Given the description of an element on the screen output the (x, y) to click on. 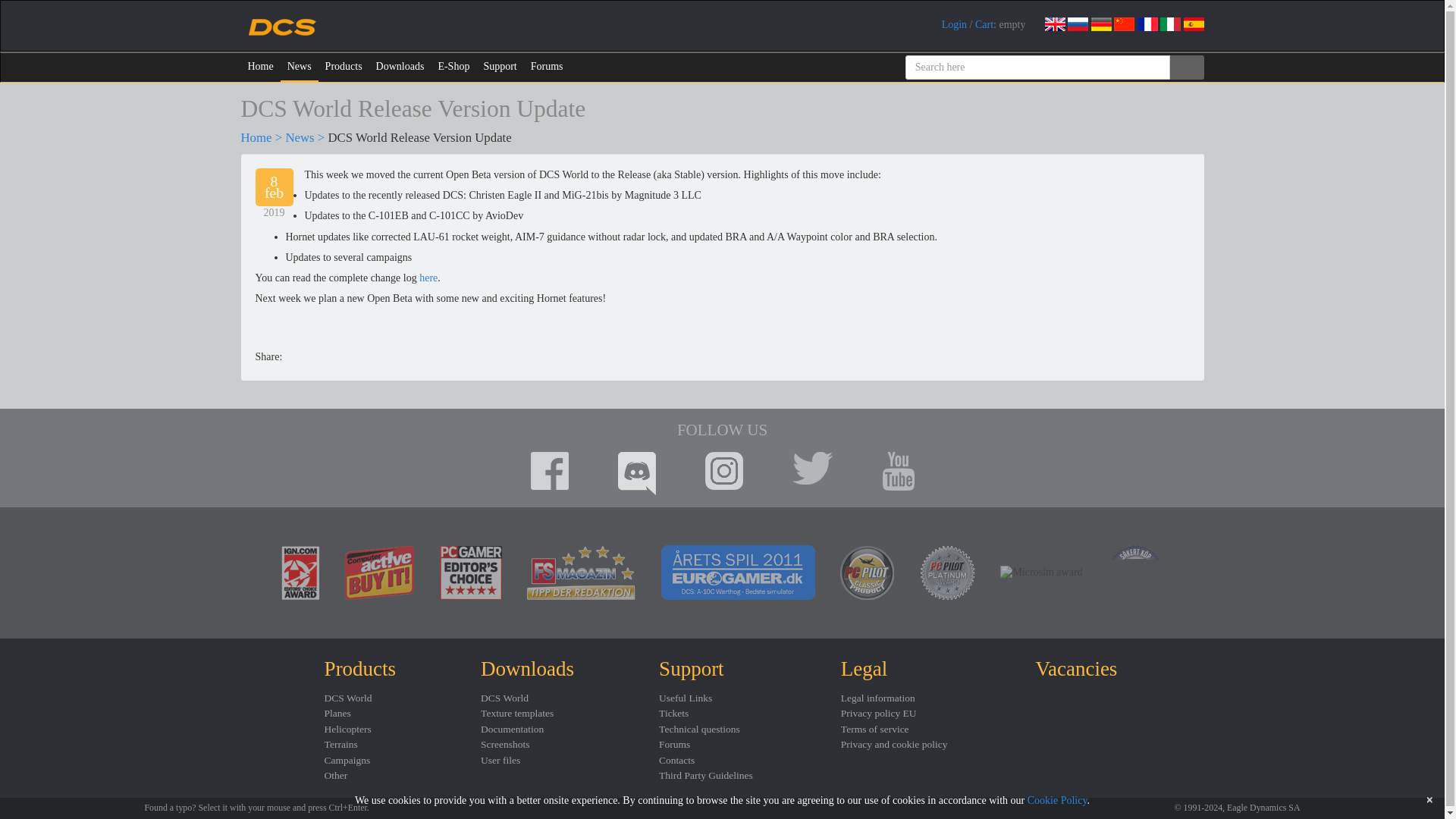
Support (499, 66)
Search (1186, 66)
Home (261, 66)
Vkontakte (342, 357)
Login (954, 24)
Twitter (317, 357)
PC Pilot Platinum award (947, 572)
Swedish award (1135, 572)
Facebook (293, 357)
Downloads (399, 66)
Search (1186, 66)
Home (256, 137)
PC Gamer Editor's Choice 5 stars award (470, 572)
'Tipp der Redaktion' from the German magazine FS Magazin (580, 572)
E-Shop (453, 66)
